Given the description of an element on the screen output the (x, y) to click on. 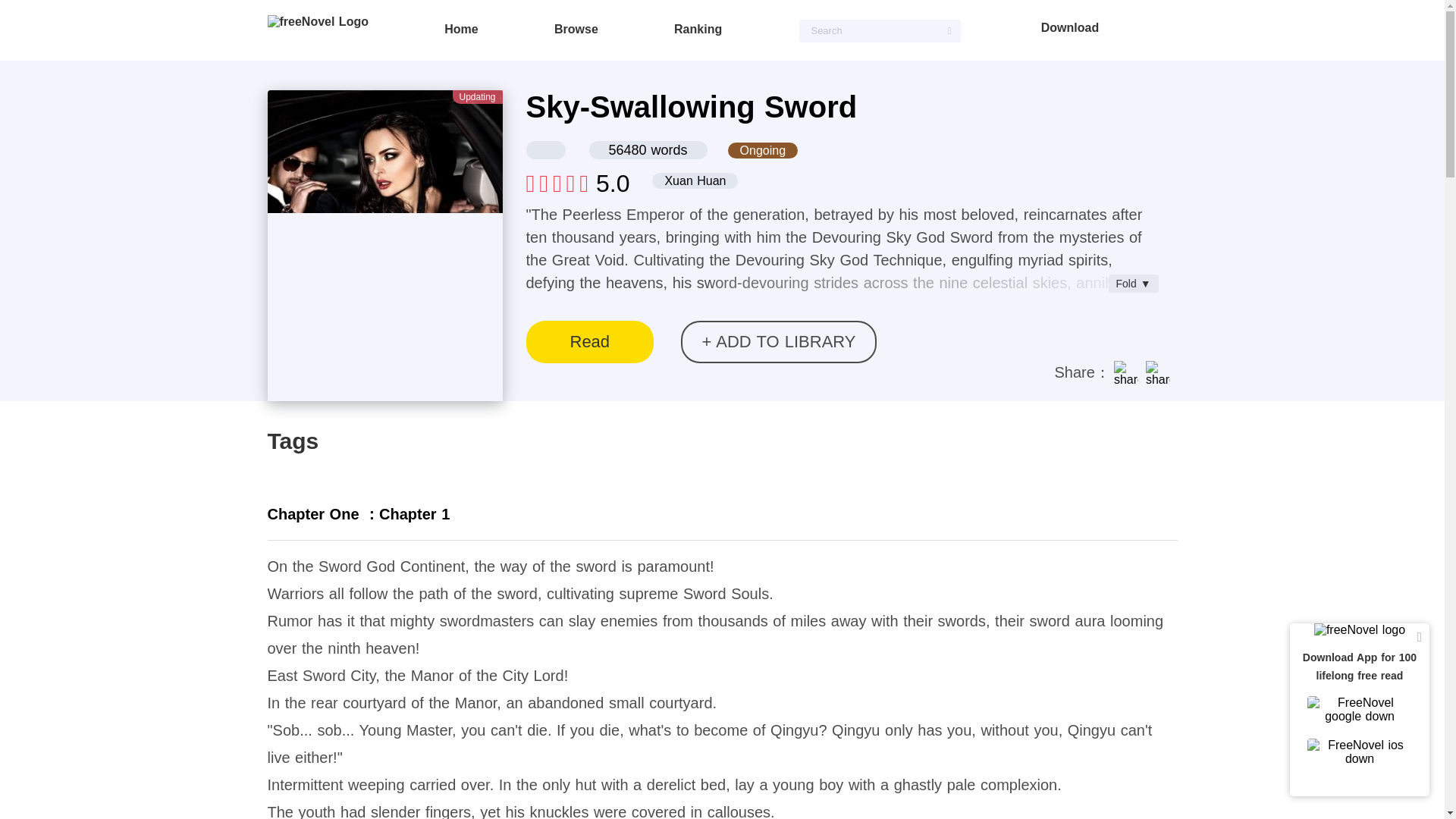
Browse (576, 29)
Read (590, 341)
ADD TO LIBRARY (778, 341)
Browse (576, 29)
Home (460, 29)
Read (590, 341)
Ranking (698, 29)
Home (460, 29)
Ranking (698, 29)
